Given the description of an element on the screen output the (x, y) to click on. 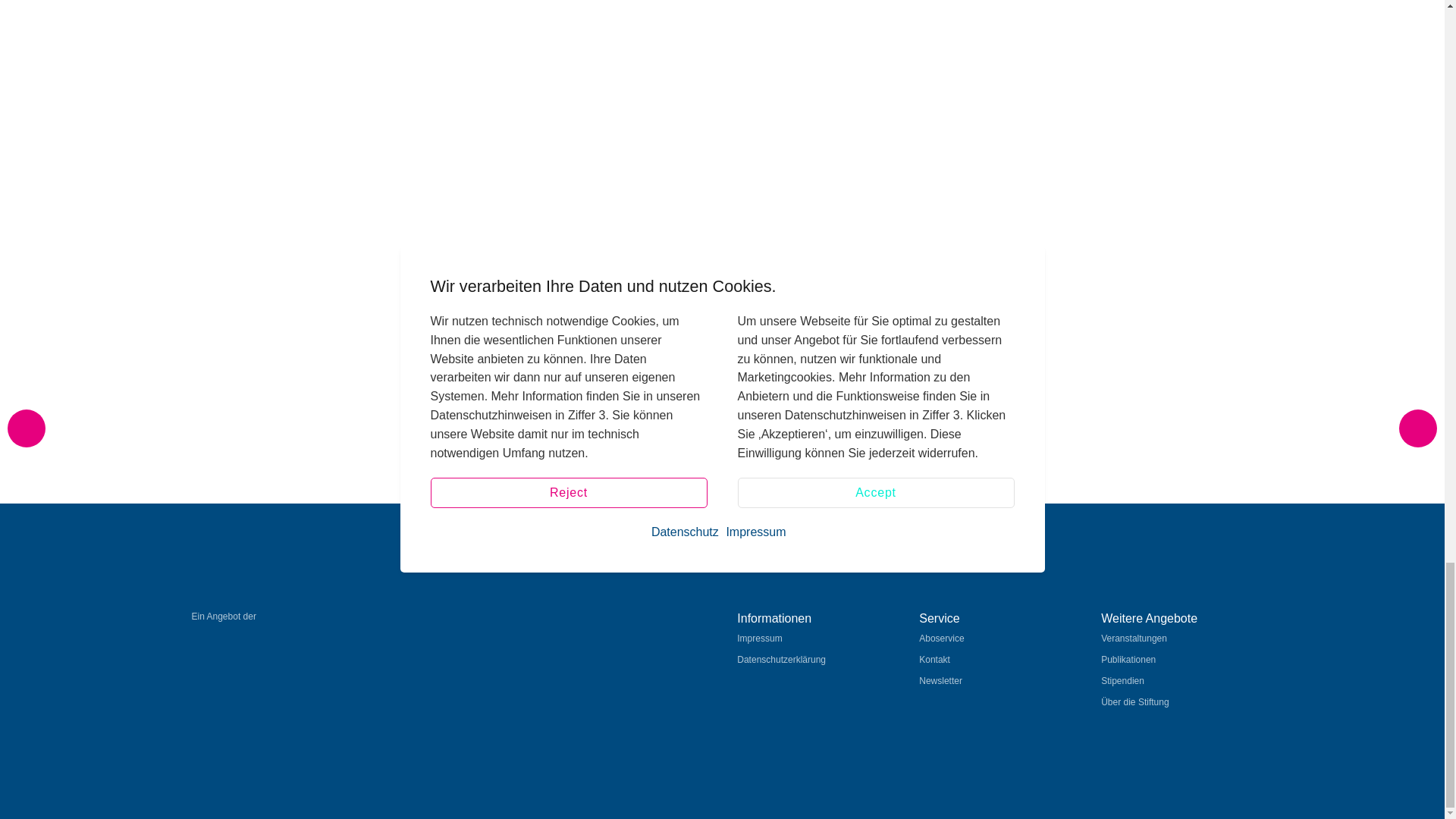
Stipendien (1176, 680)
Veranstaltungen (1176, 638)
Newsletter (994, 680)
Kontakt (994, 659)
Aboservice (994, 638)
Impressum (812, 638)
Publikationen (1176, 659)
